Given the description of an element on the screen output the (x, y) to click on. 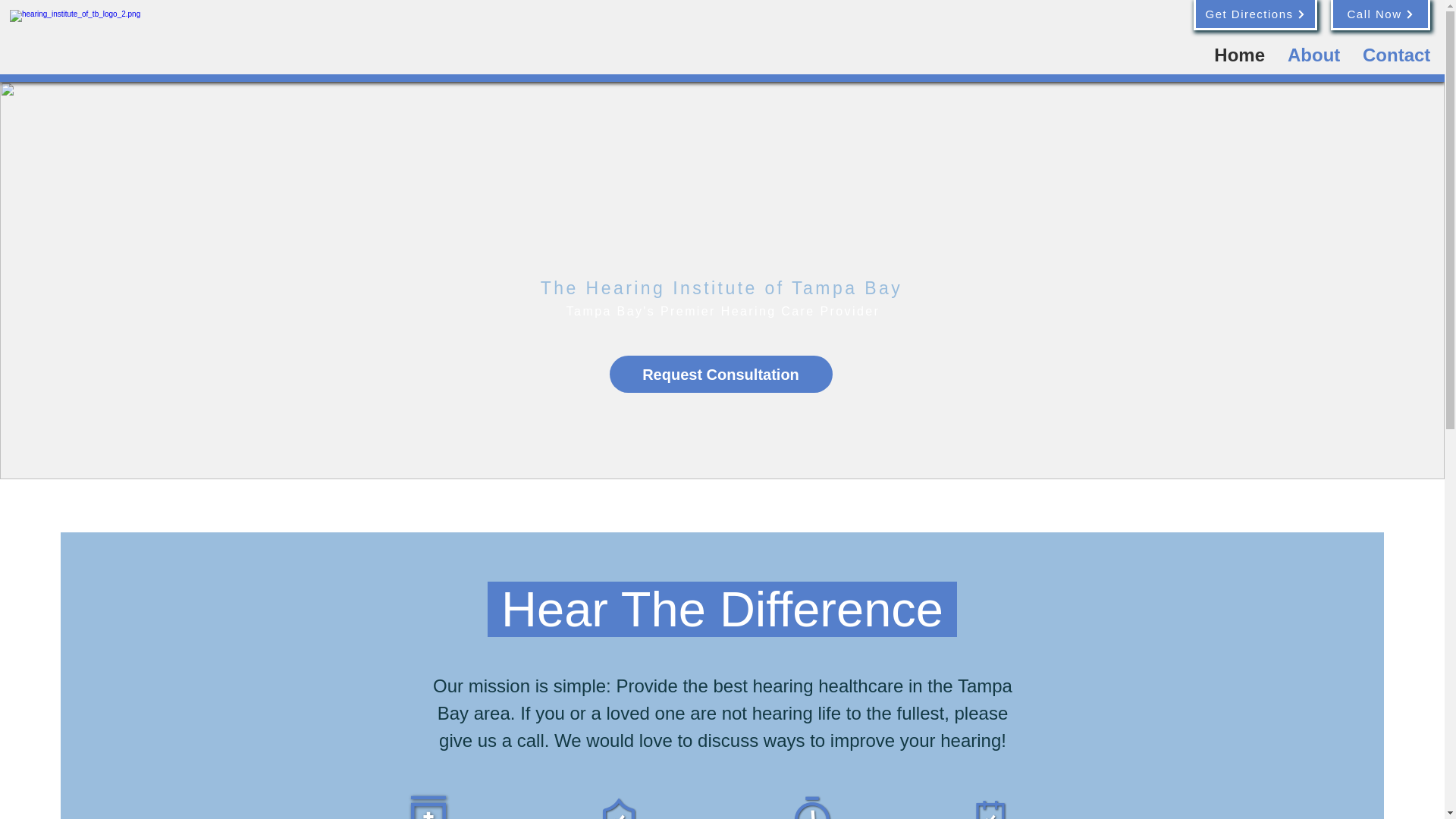
Request Consultation (721, 374)
About (1313, 52)
Home (1239, 52)
Get Directions (1255, 15)
Contact (1396, 52)
Call Now (1379, 15)
